Given the description of an element on the screen output the (x, y) to click on. 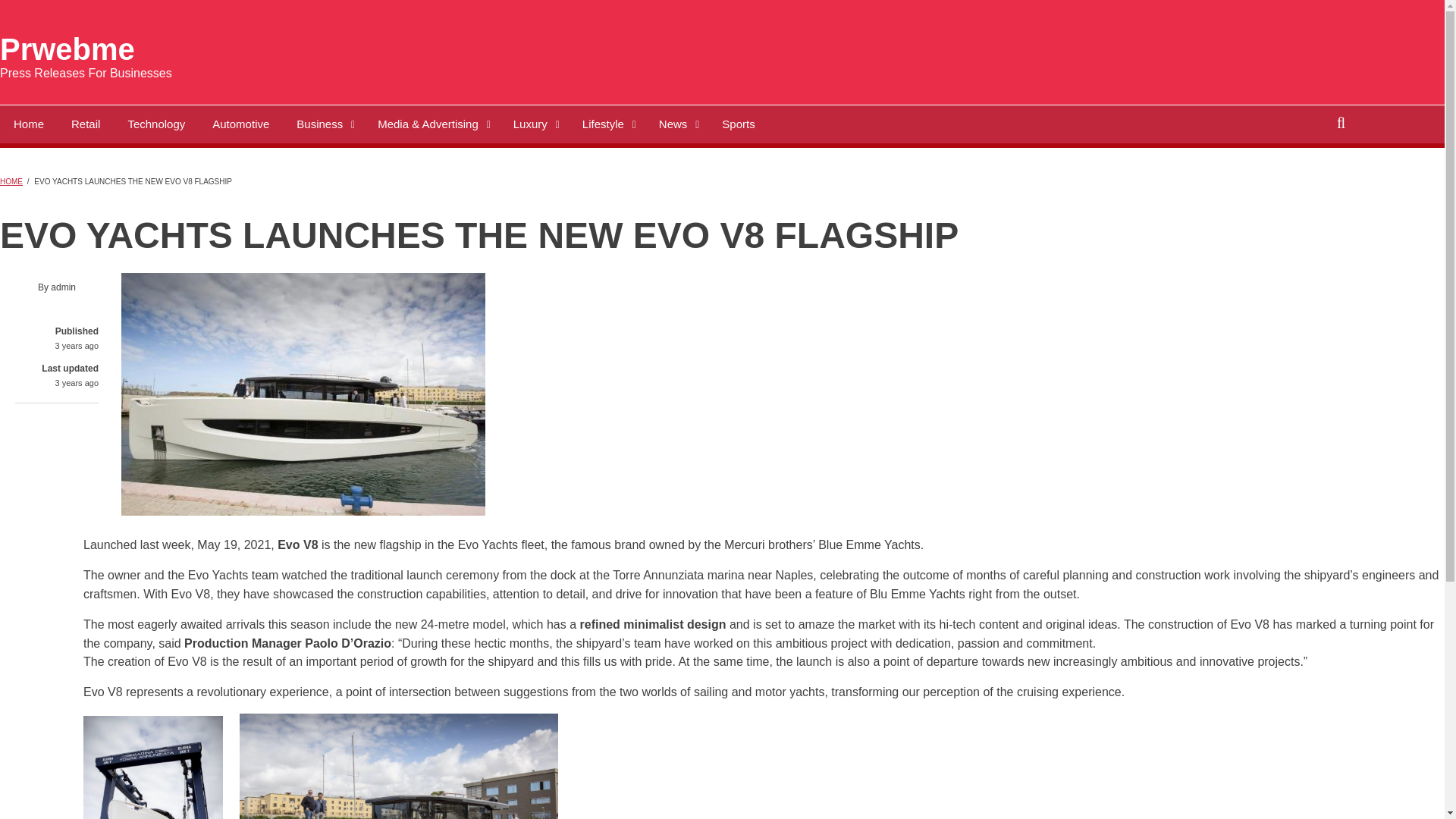
Home (29, 123)
Lifestyle (607, 123)
Sports (737, 123)
Technology (155, 123)
Luxury (534, 123)
Automotive (240, 123)
Prwebme (67, 49)
Home (67, 49)
News (677, 123)
Retail (85, 123)
Business (323, 123)
HOME (11, 181)
